Given the description of an element on the screen output the (x, y) to click on. 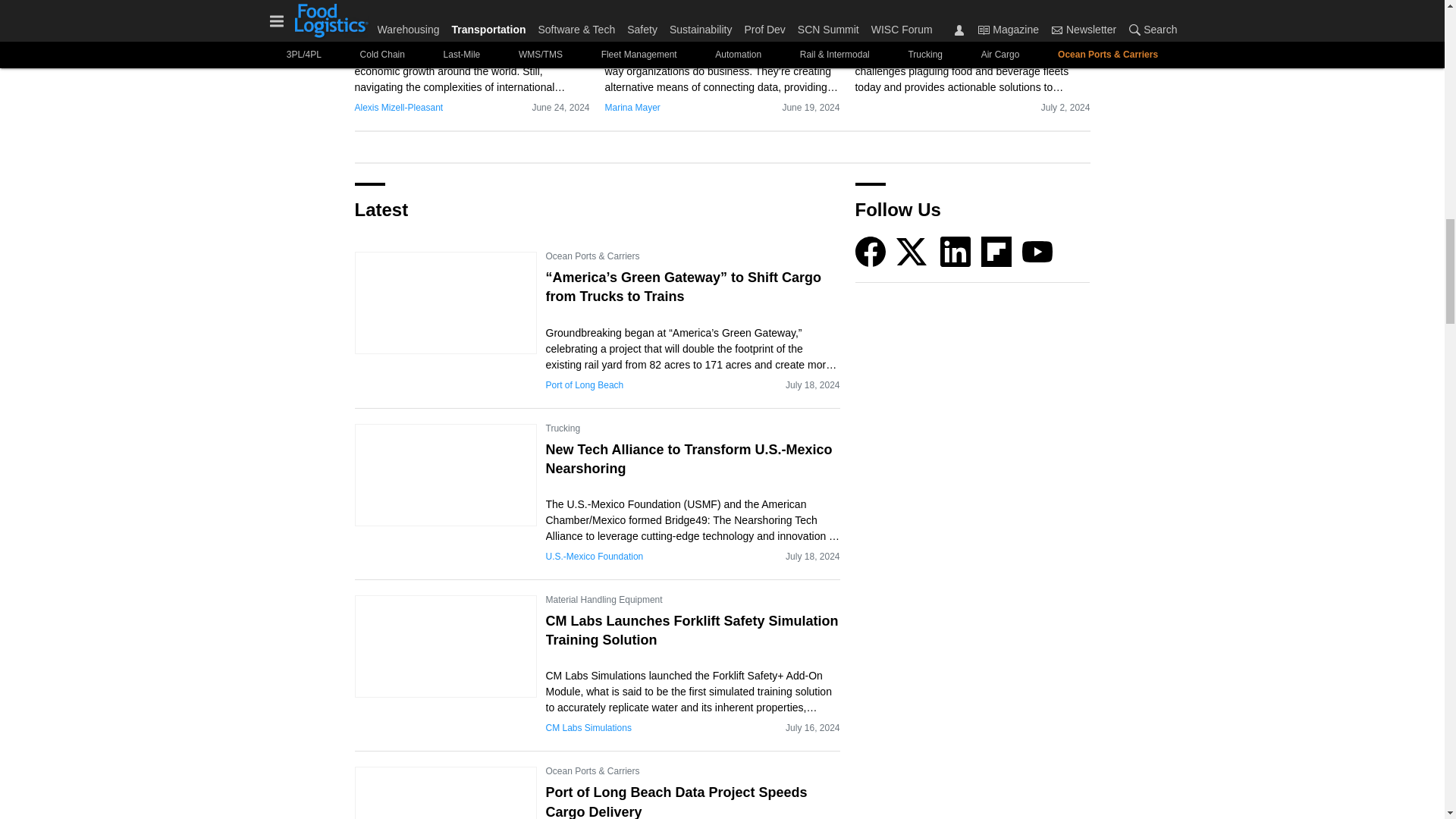
Flipboard icon (996, 251)
Twitter X icon (911, 251)
YouTube icon (1037, 251)
LinkedIn icon (955, 251)
Facebook icon (870, 251)
